Given the description of an element on the screen output the (x, y) to click on. 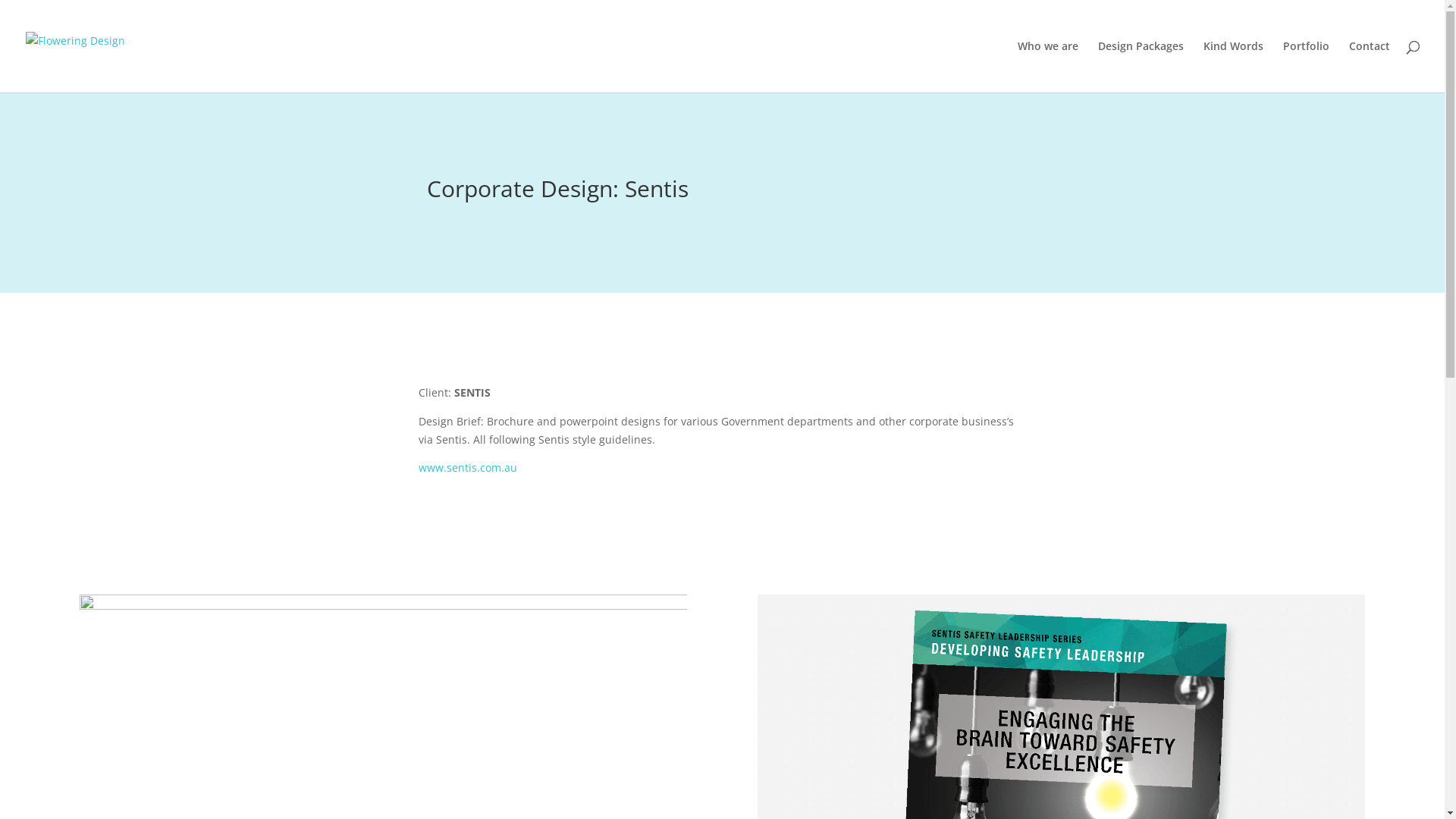
www.sentis.com.au Element type: text (467, 467)
Portfolio Element type: text (1306, 66)
Design Packages Element type: text (1140, 66)
Who we are Element type: text (1047, 66)
Contact Element type: text (1369, 66)
Kind Words Element type: text (1233, 66)
